Given the description of an element on the screen output the (x, y) to click on. 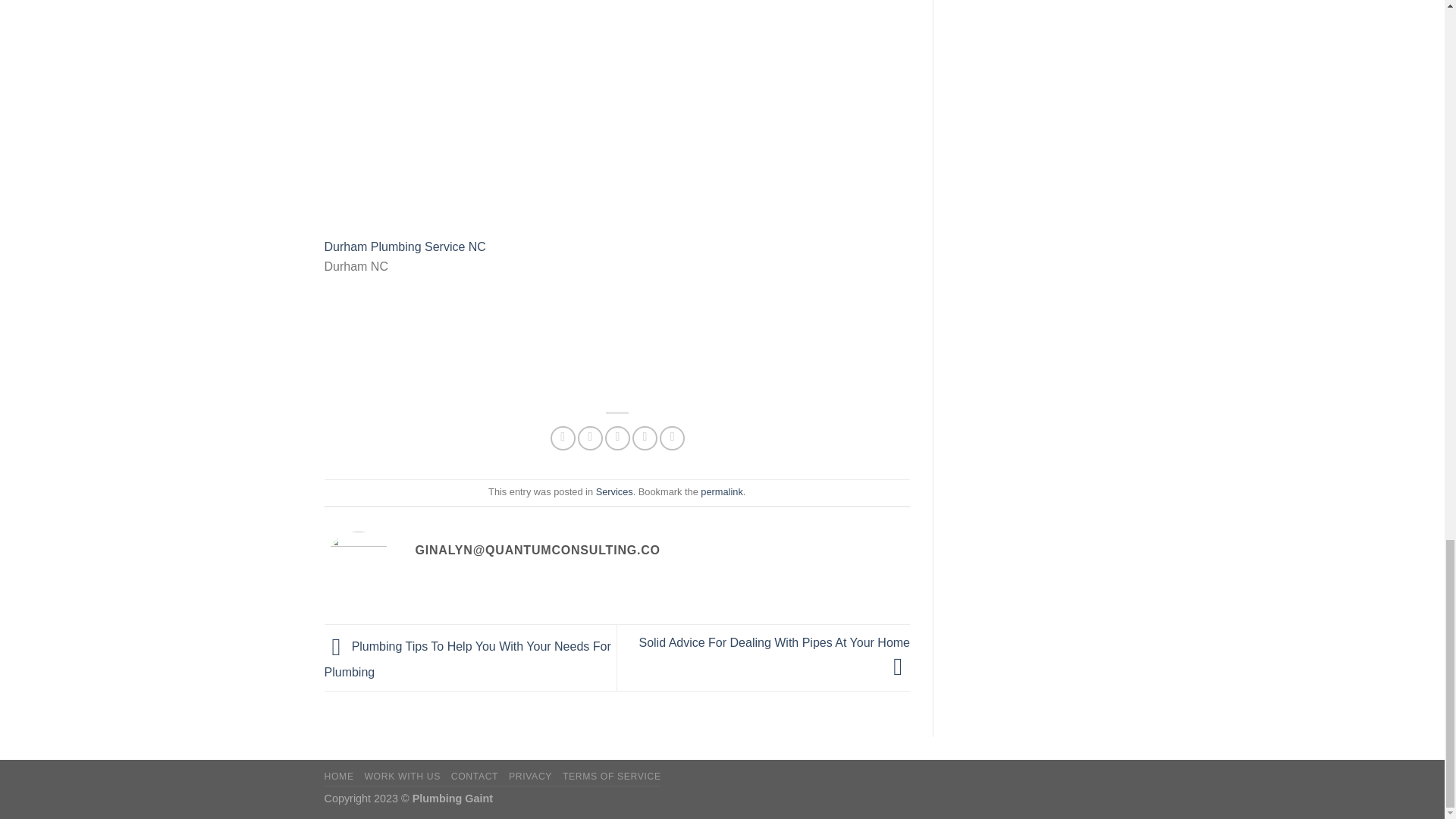
Solid Advice For Dealing With Pipes At Your Home (774, 654)
CONTACT (475, 776)
permalink (721, 491)
Durham Plumbing Service NC (405, 246)
WORK WITH US (401, 776)
Services (614, 491)
HOME (338, 776)
Plumbing Tips To Help You With Your Needs For Plumbing (467, 659)
Permalink to Plumbing 101: Repairing Your Pipes Like A Pro (721, 491)
PRIVACY (529, 776)
